Given the description of an element on the screen output the (x, y) to click on. 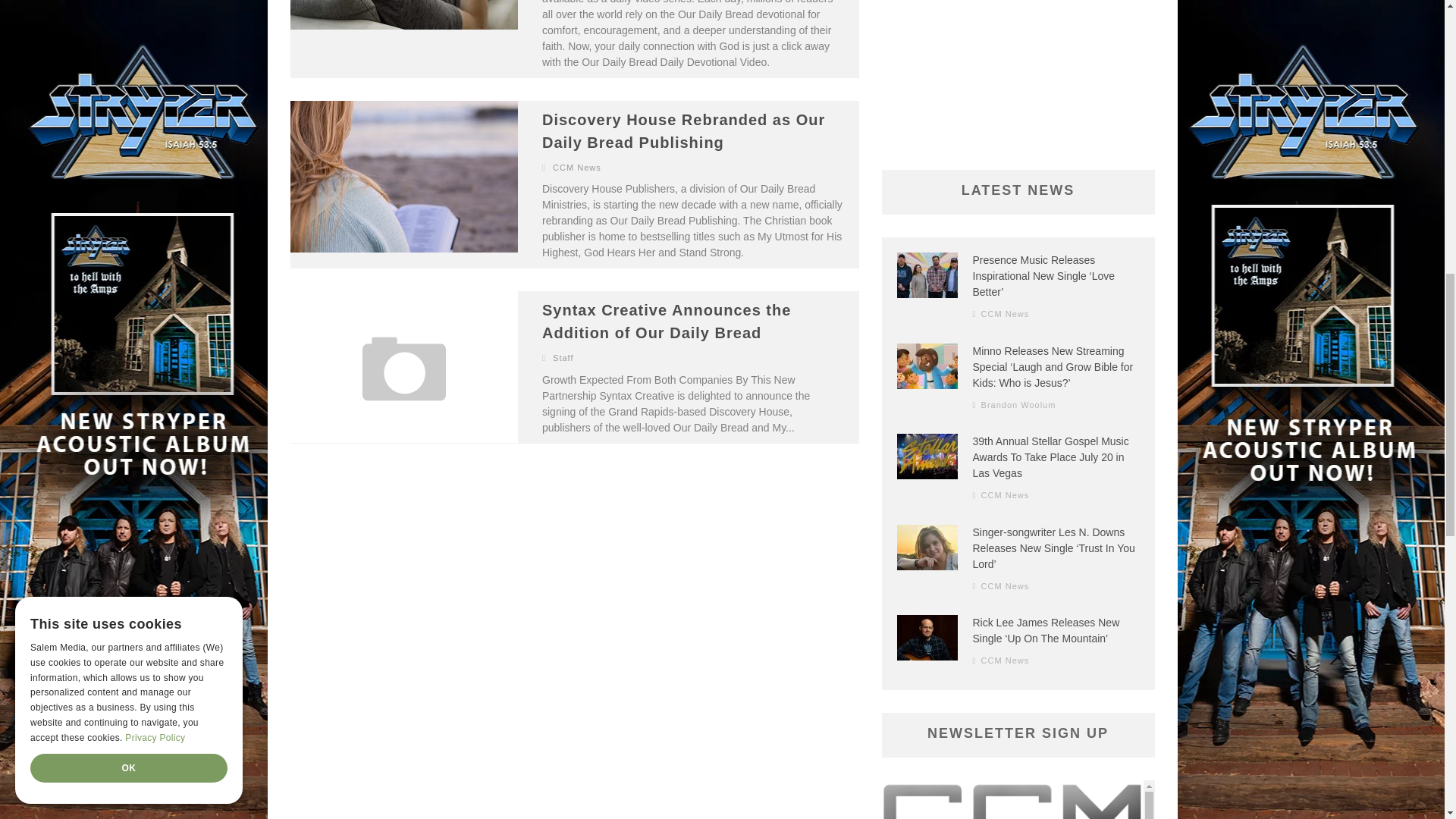
3rd party ad content (1017, 70)
